Given the description of an element on the screen output the (x, y) to click on. 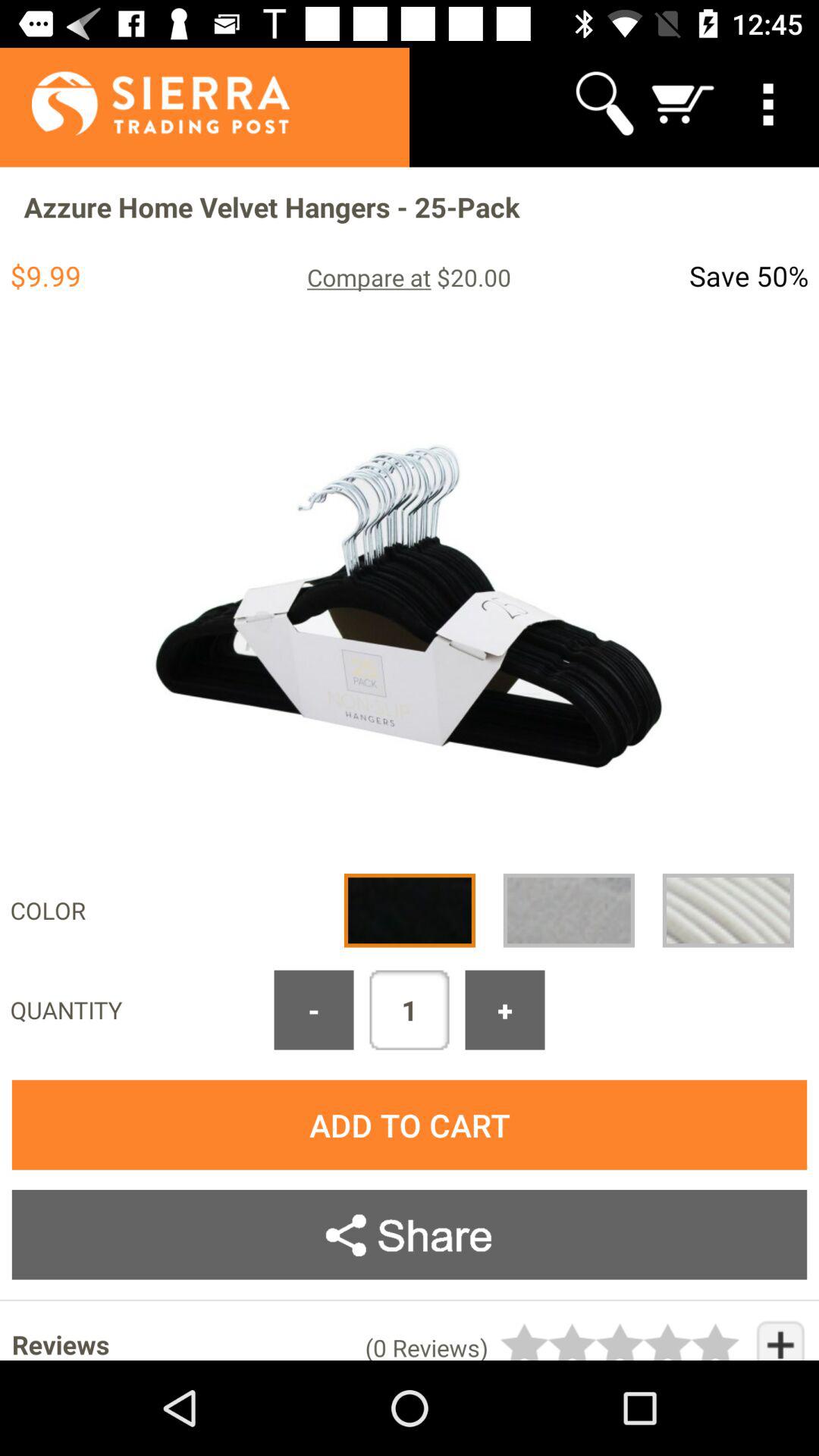
share with others (409, 1234)
